Given the description of an element on the screen output the (x, y) to click on. 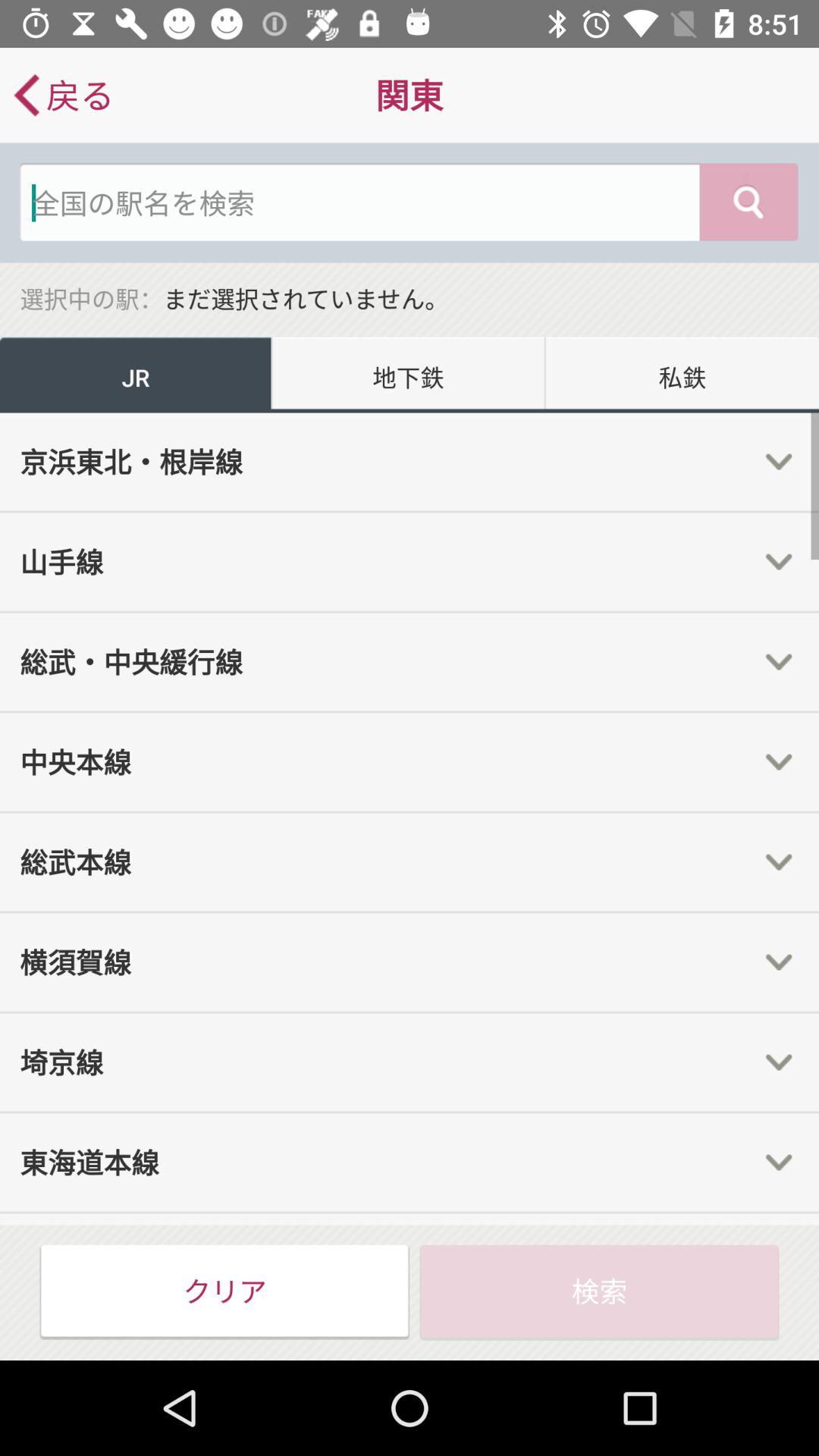
select the jr item (136, 374)
